Given the description of an element on the screen output the (x, y) to click on. 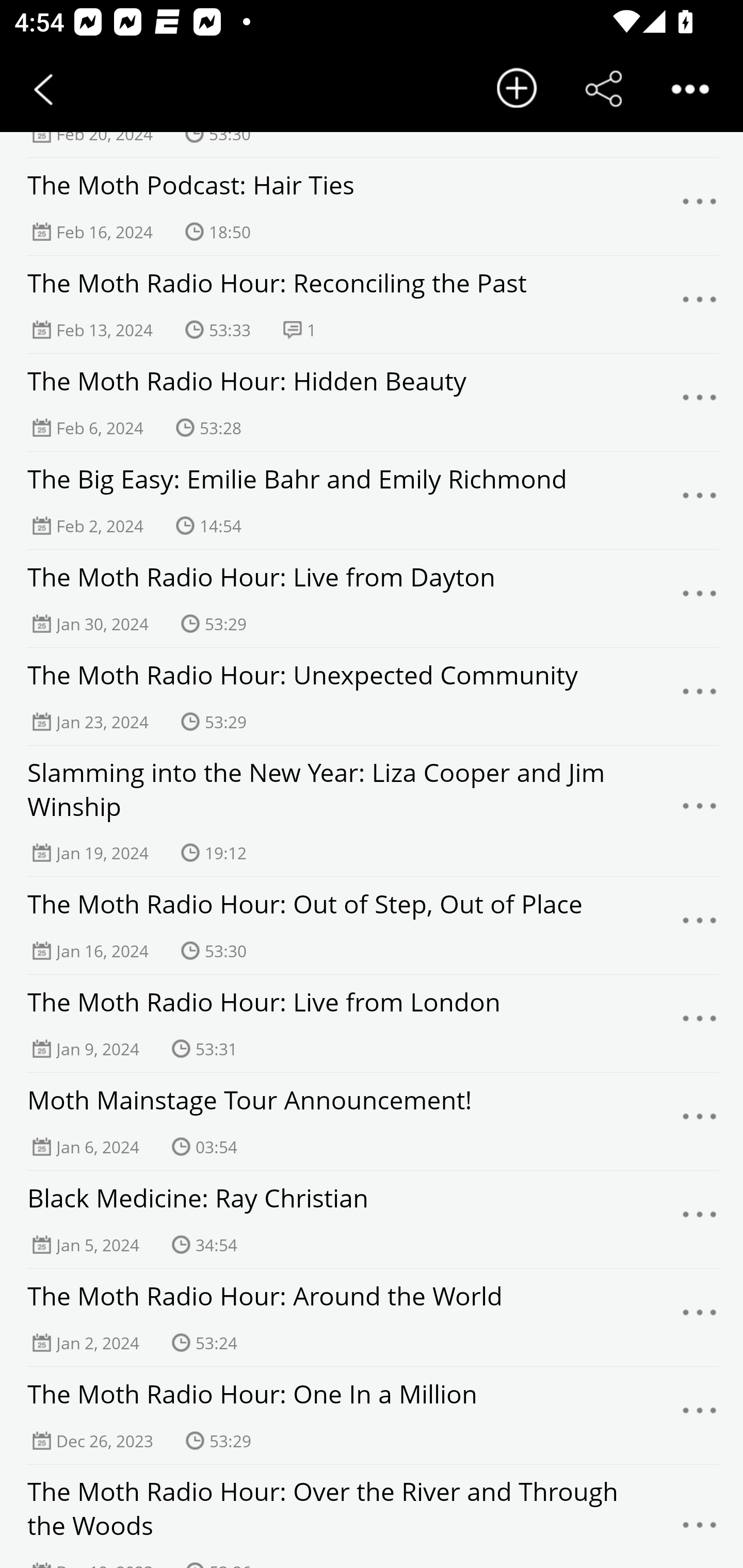
Back (43, 88)
Menu (699, 206)
Menu (699, 304)
Menu (699, 402)
Menu (699, 500)
Menu (699, 598)
Menu (699, 696)
Menu (699, 811)
Menu (699, 925)
Menu (699, 1023)
Menu (699, 1121)
Menu (699, 1219)
Menu (699, 1317)
Menu (699, 1415)
Menu (699, 1527)
